Given the description of an element on the screen output the (x, y) to click on. 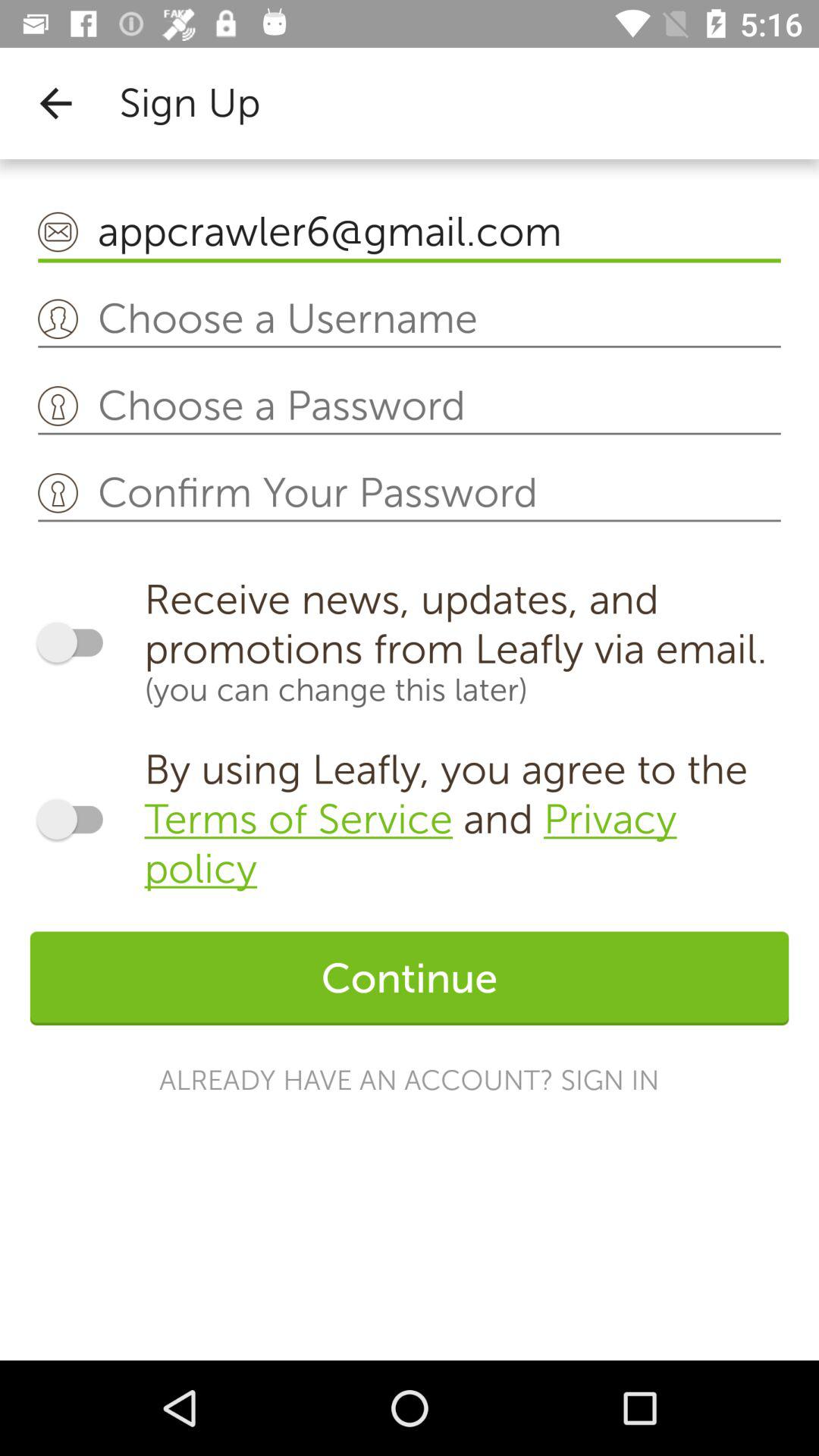
choose appcrawler6@gmail.com item (409, 232)
